Given the description of an element on the screen output the (x, y) to click on. 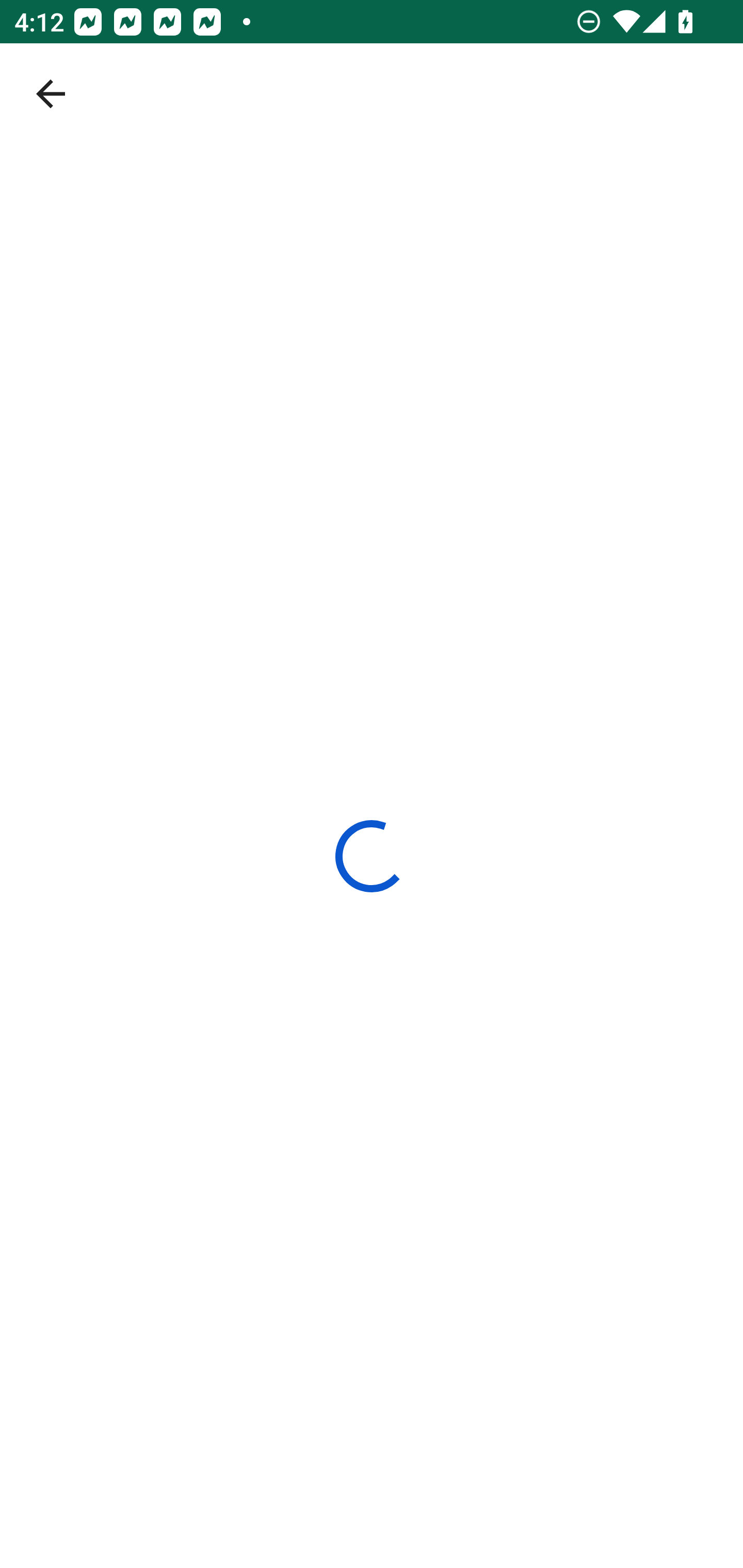
Navigate up (50, 93)
